Given the description of an element on the screen output the (x, y) to click on. 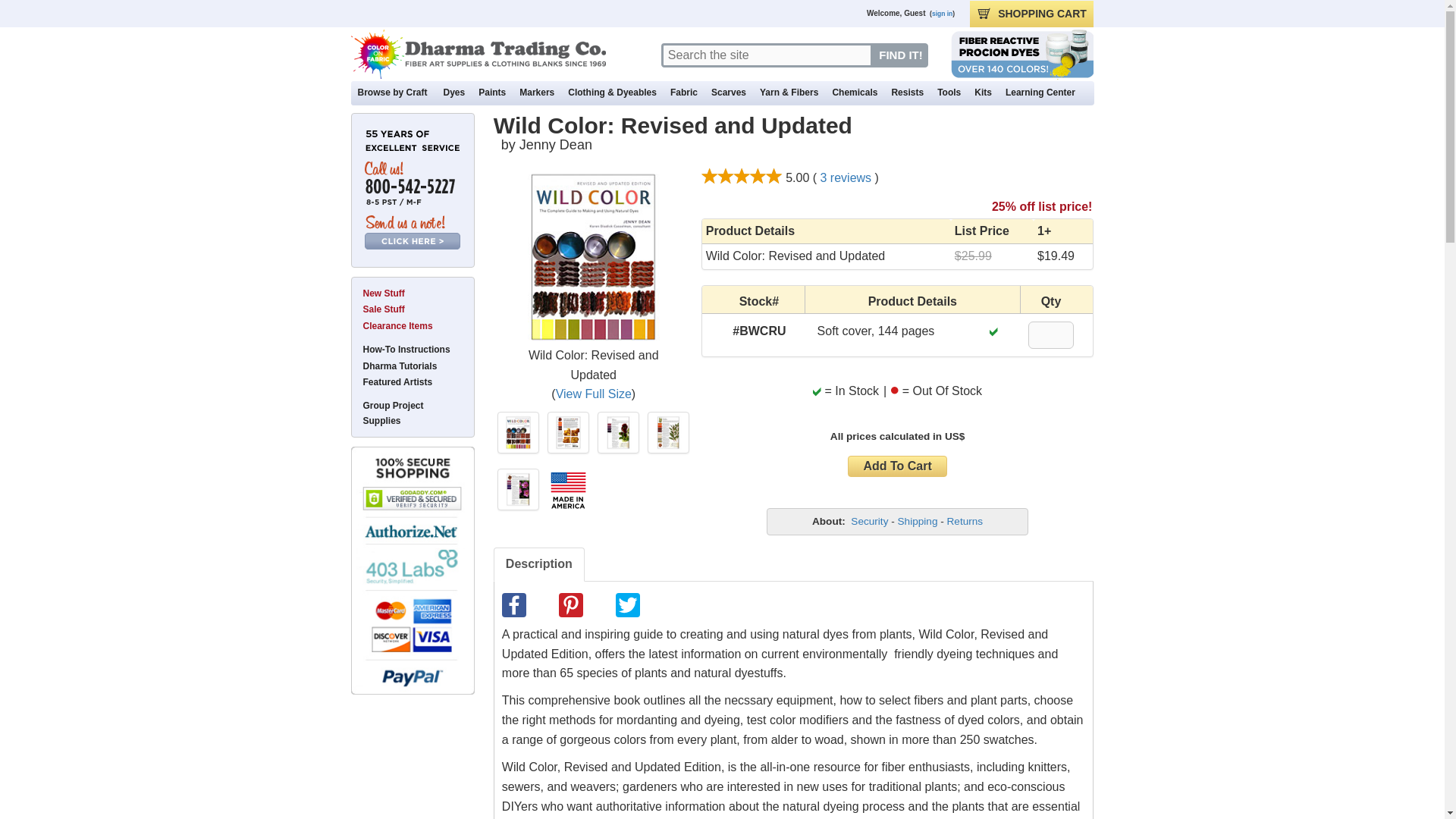
Scarves (728, 91)
FIND IT! (899, 55)
Visitor Welcome Message (712, 13)
Markers (536, 91)
FIND IT! (899, 55)
Resists (907, 91)
Kits (982, 91)
Paints (492, 91)
Browse by Craft (393, 91)
Add To Cart (896, 465)
Chemicals (854, 91)
Fabric (683, 91)
Dharma Trading Co. Homepage (477, 53)
FIND IT! (899, 55)
Learning Center (1040, 91)
